Given the description of an element on the screen output the (x, y) to click on. 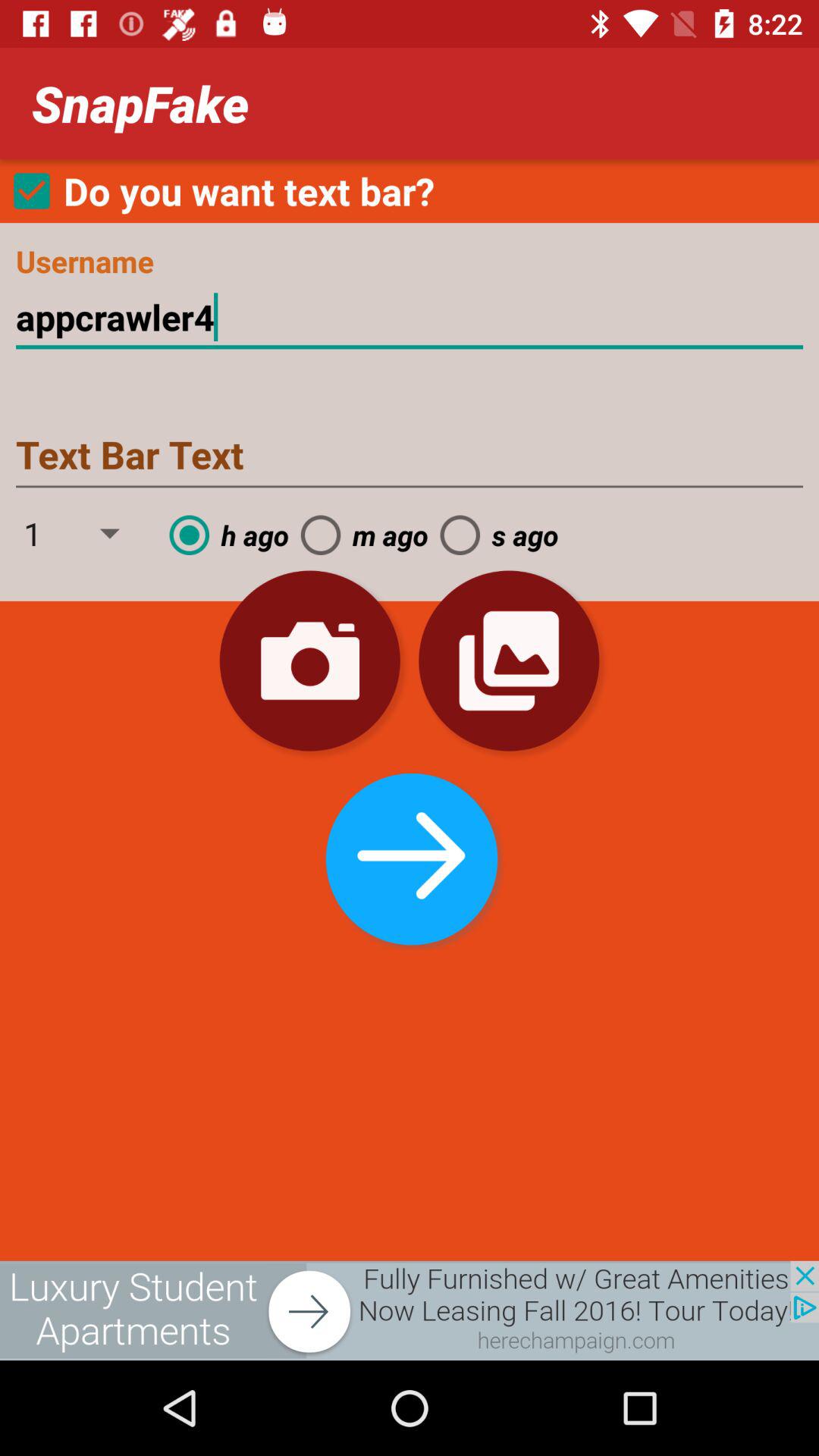
go to text option (409, 456)
